Given the description of an element on the screen output the (x, y) to click on. 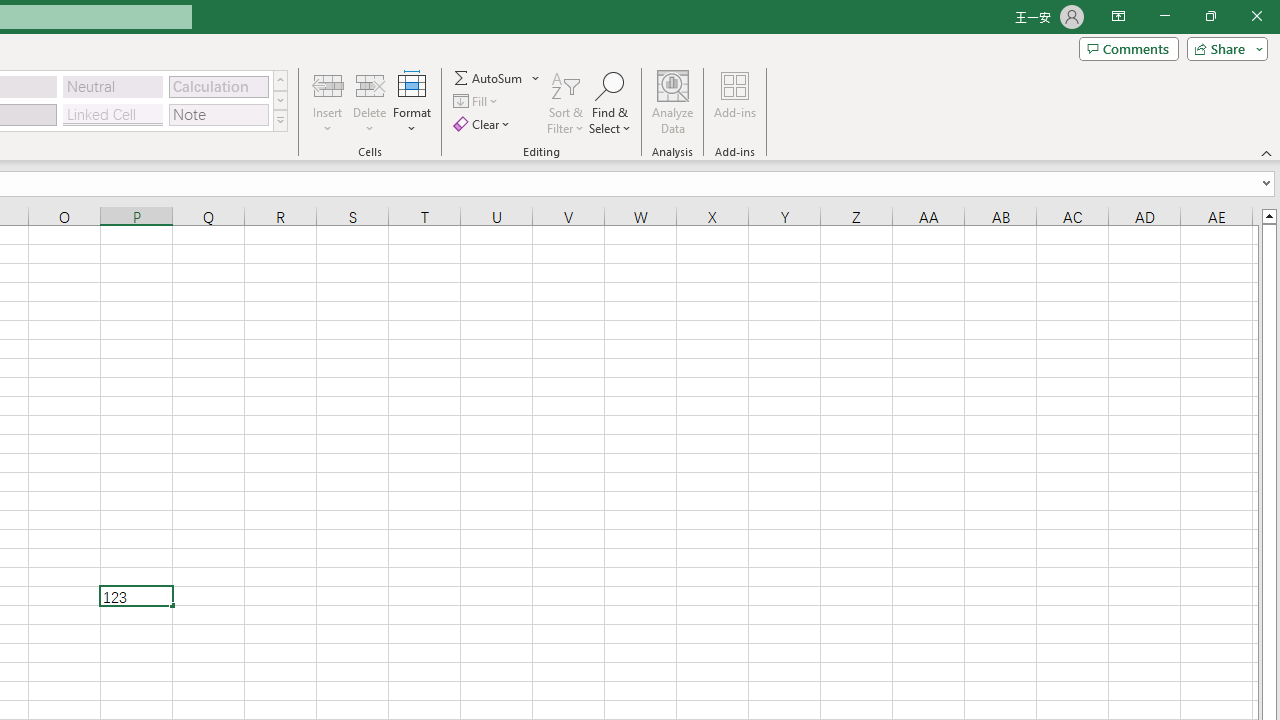
Line up (1268, 215)
Clear (483, 124)
Analyze Data (673, 102)
Format (411, 102)
Ribbon Display Options (1118, 16)
Row Down (280, 100)
Calculation (218, 86)
AutoSum (497, 78)
Class: NetUIImage (280, 120)
Note (218, 114)
Row up (280, 79)
